Given the description of an element on the screen output the (x, y) to click on. 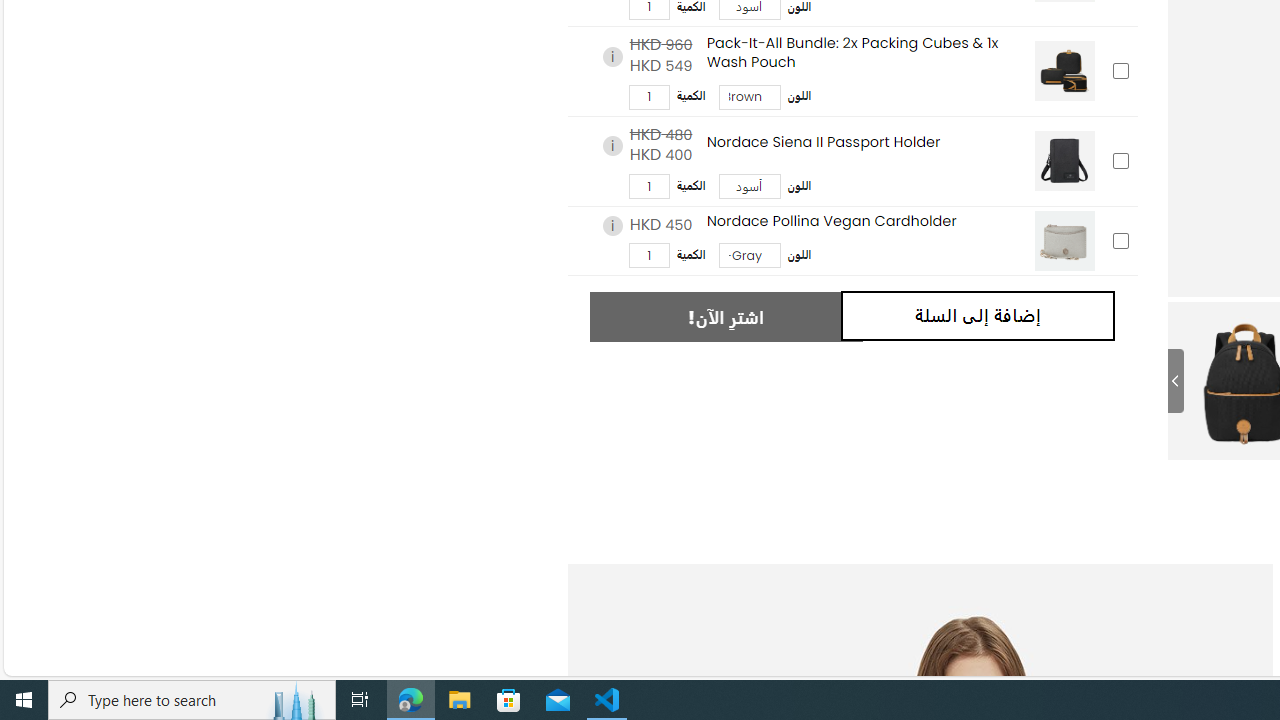
Nordace Siena II Passport Holder (1064, 161)
Class: upsell-v2-product-upsell-variable-product-qty-select (648, 256)
Add this product to cart (1120, 240)
Pack-It-All Bundle: 2x Packing Cubes & 1x Wash Pouch (1064, 71)
Nordace Pollina Vegan Cardholder (1064, 240)
i (612, 225)
